Given the description of an element on the screen output the (x, y) to click on. 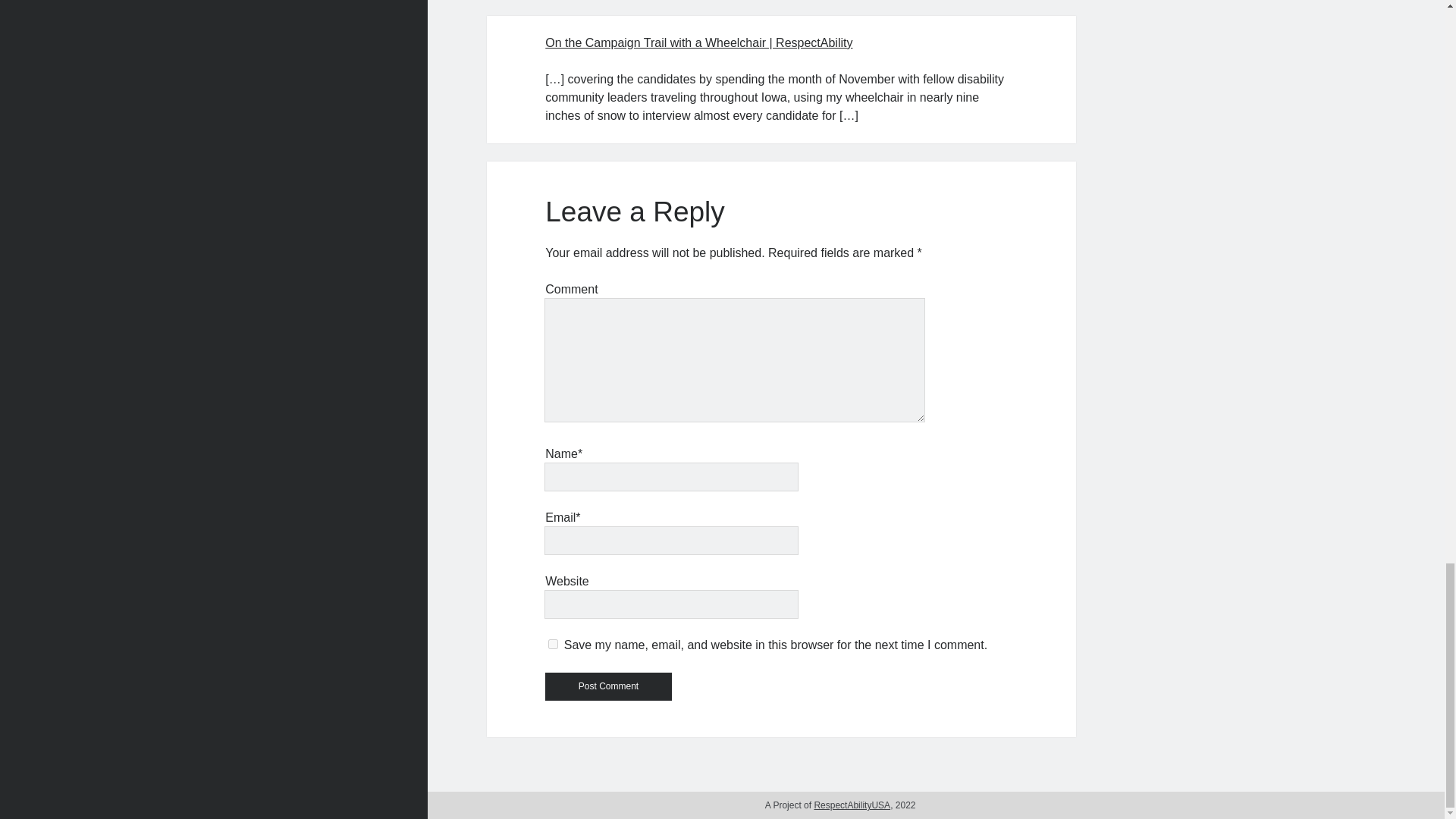
Post Comment (607, 686)
Post Comment (607, 686)
yes (552, 644)
RespectAbilityUSA (851, 805)
